Given the description of an element on the screen output the (x, y) to click on. 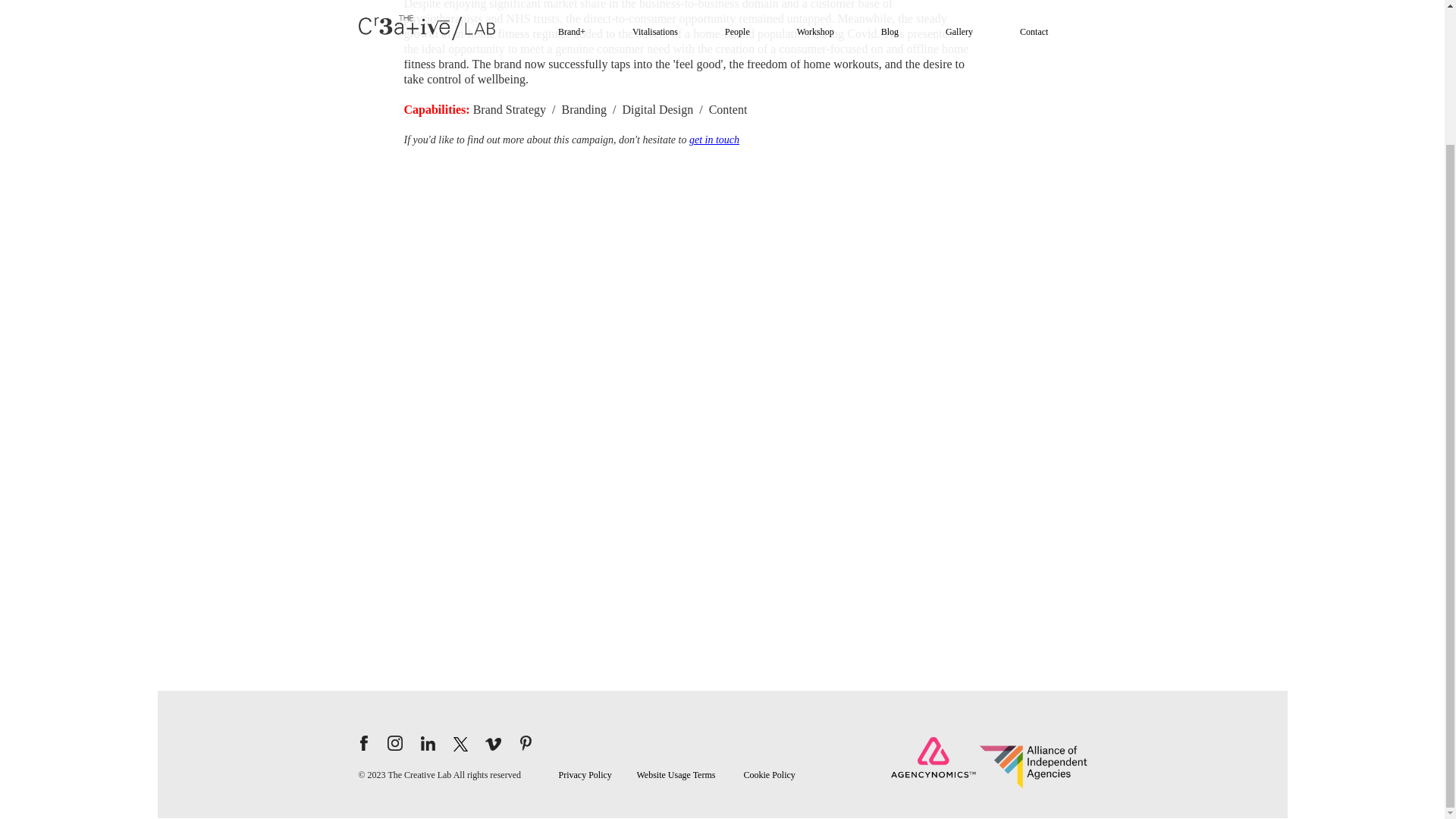
Website Usage Terms (676, 774)
Cookie Policy (768, 774)
Privacy Policy (584, 774)
get in touch (713, 139)
